Given the description of an element on the screen output the (x, y) to click on. 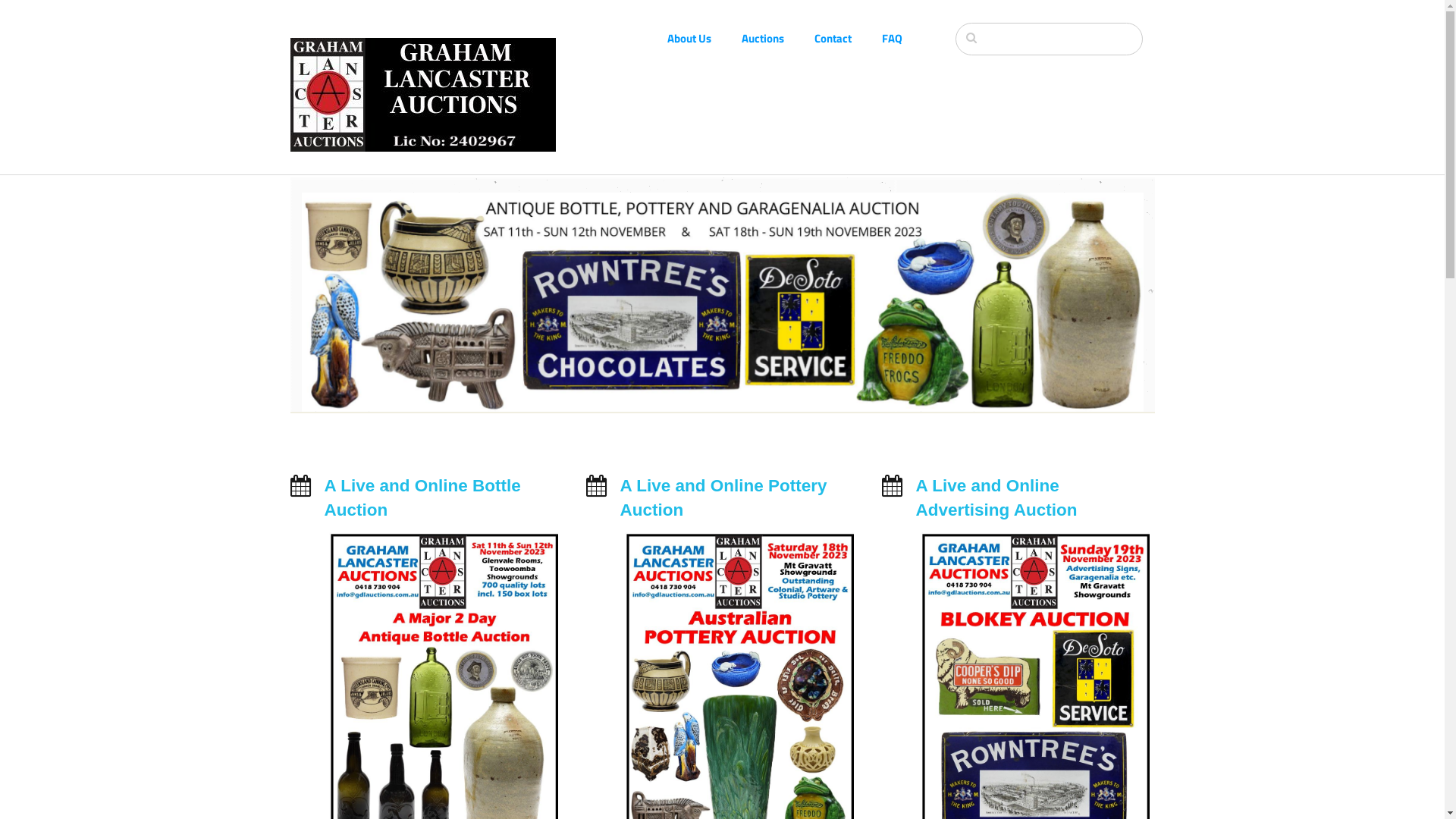
About Us Element type: text (704, 38)
A Live and Online Pottery Auction Element type: text (723, 497)
A Live and Online Advertising Auction Element type: text (996, 497)
A Live and Online Bottle Auction Element type: text (422, 497)
FAQ Element type: text (906, 38)
Contact Element type: text (847, 38)
Auctions Element type: text (777, 38)
